Given the description of an element on the screen output the (x, y) to click on. 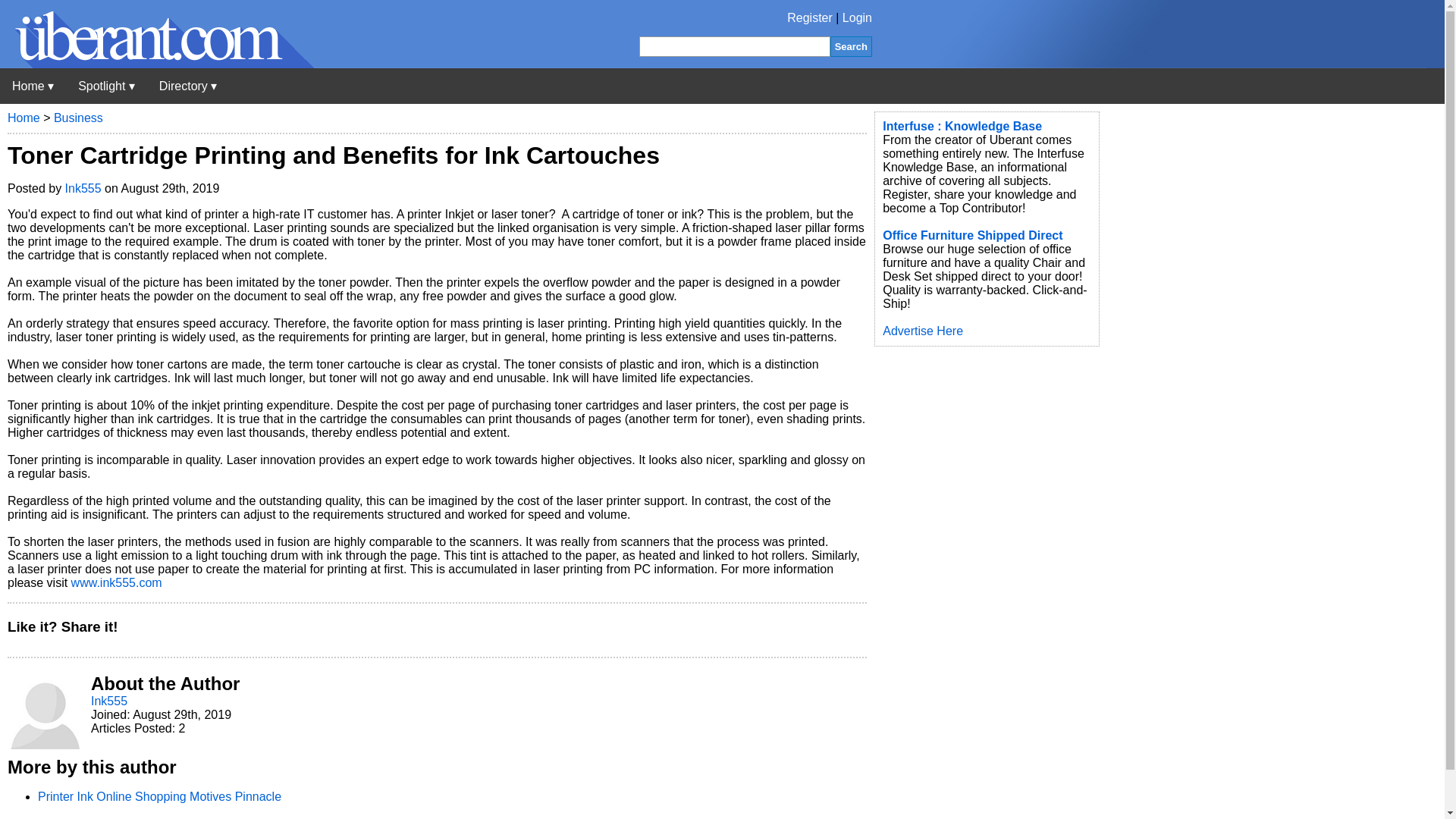
Search (850, 46)
Uberant (157, 63)
Login (857, 17)
Register (809, 17)
Uberant (32, 85)
Search (850, 46)
